Given the description of an element on the screen output the (x, y) to click on. 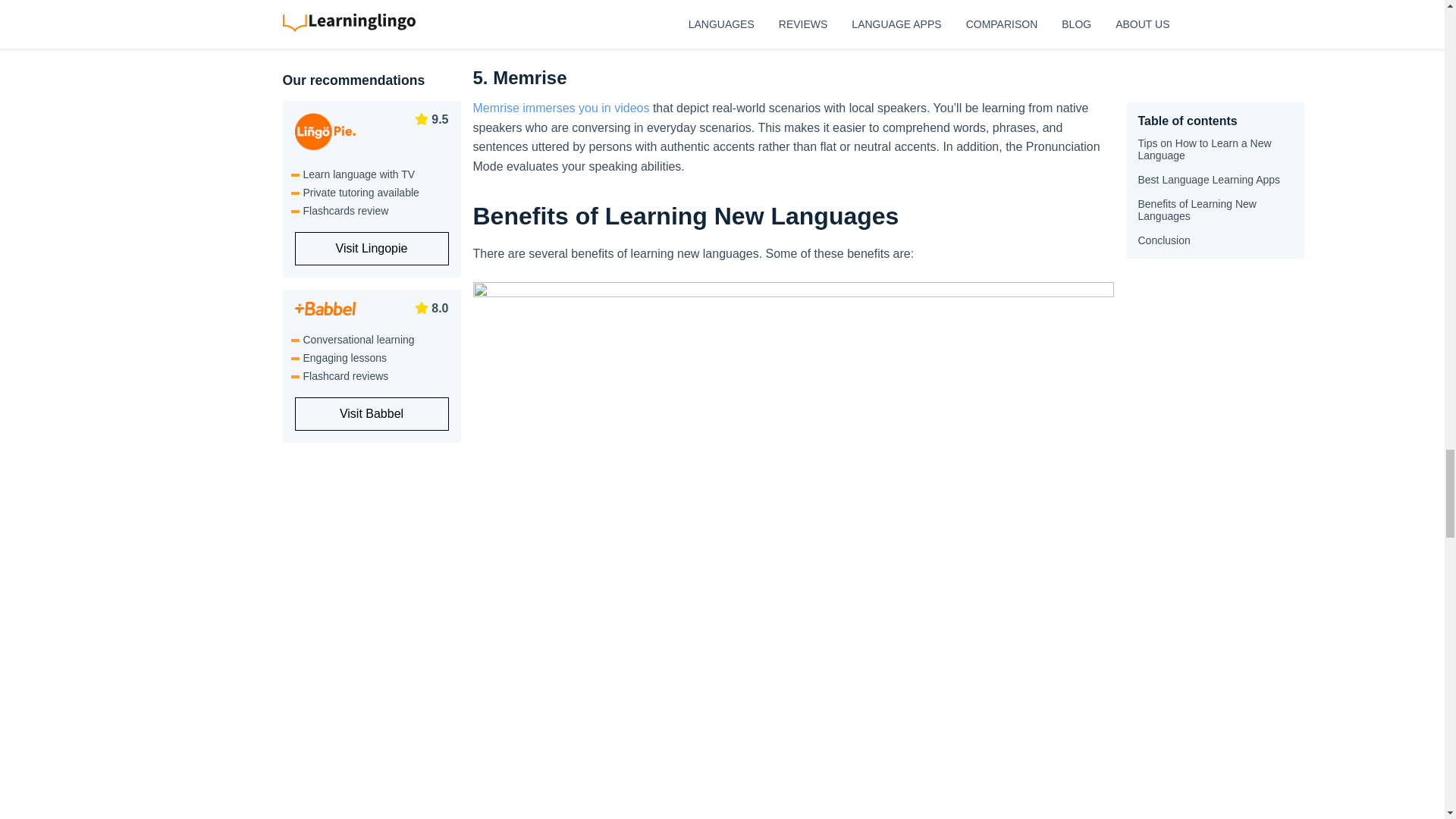
Memrise immerses you in videos (561, 107)
